Given the description of an element on the screen output the (x, y) to click on. 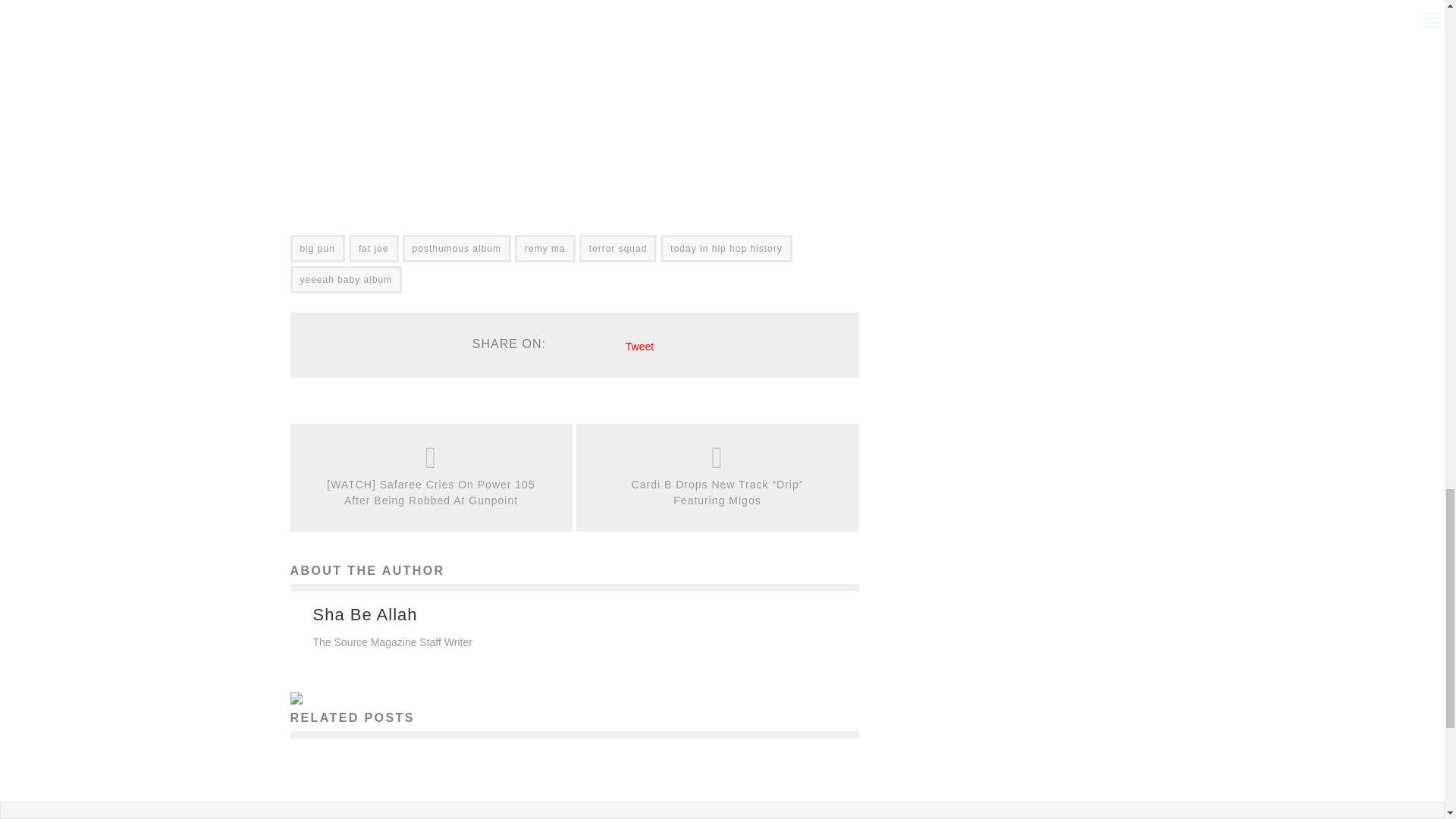
yeeeah baby album (345, 279)
fat joe (373, 248)
Tweet (639, 346)
remy ma (545, 248)
big pun (316, 248)
posthumous album (457, 248)
today in hip hop history (726, 248)
Sha Be Allah (364, 614)
terror squad (618, 248)
